Given the description of an element on the screen output the (x, y) to click on. 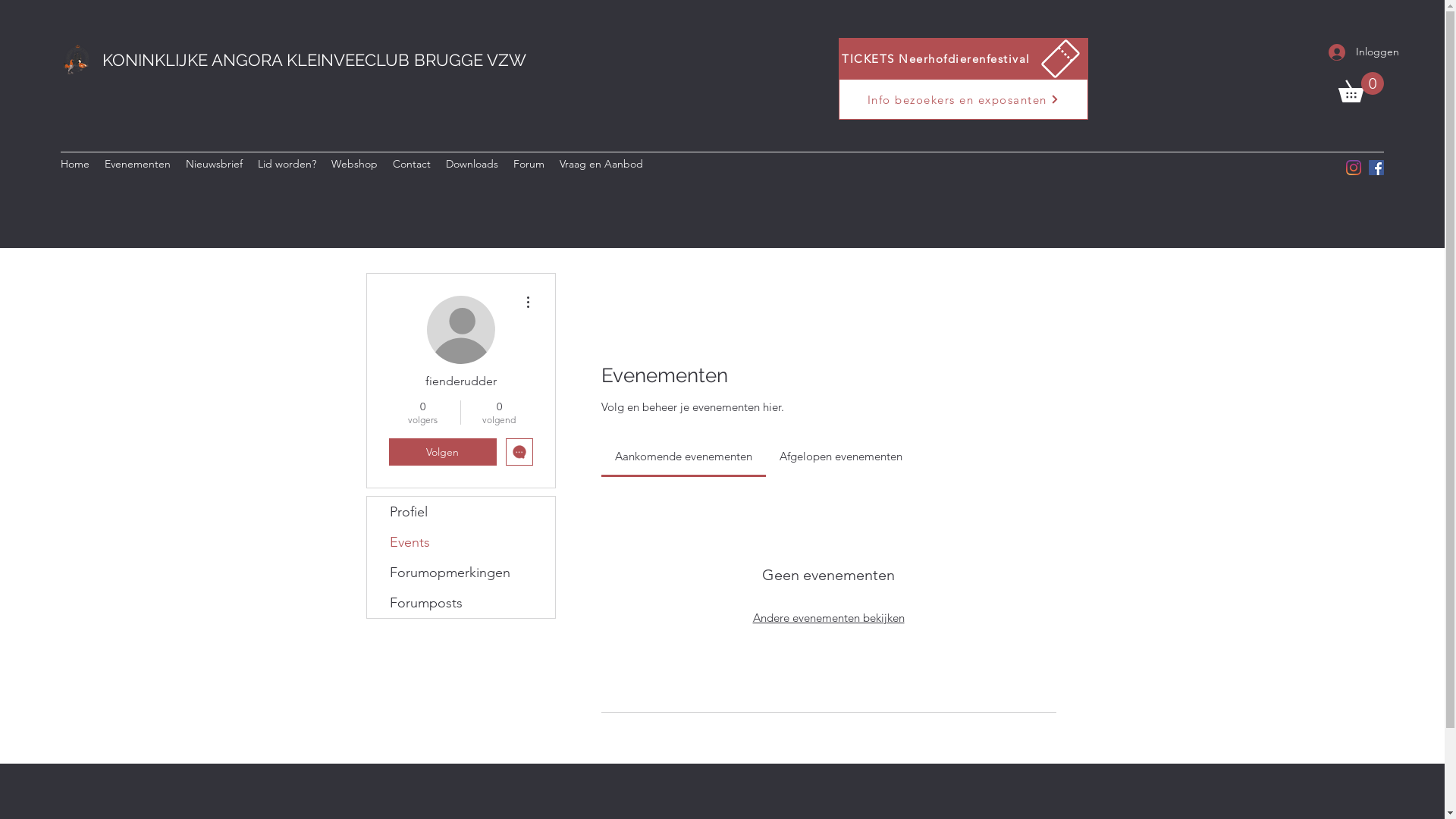
Volgen Element type: text (441, 451)
Evenementen Element type: text (137, 163)
Info bezoekers en exposanten Element type: text (963, 98)
0 Element type: text (1360, 87)
Home Element type: text (75, 163)
Andere evenementen bekijken Element type: text (827, 617)
Profiel Element type: text (461, 511)
KONINKLIJKE ANGORA KLEINVEECLUB BRUGGE VZW Element type: text (314, 59)
Forumopmerkingen Element type: text (461, 572)
Events Element type: text (461, 542)
Webshop Element type: text (354, 163)
Downloads Element type: text (471, 163)
0
volgers Element type: text (421, 412)
Nieuwsbrief Element type: text (214, 163)
Forumposts Element type: text (461, 602)
0
volgend Element type: text (499, 412)
Contact Element type: text (411, 163)
Lid worden? Element type: text (286, 163)
TICKETS Neerhofdierenfestival Element type: text (963, 57)
Vraag en Aanbod Element type: text (601, 163)
Inloggen Element type: text (1350, 51)
Forum Element type: text (528, 163)
